Given the description of an element on the screen output the (x, y) to click on. 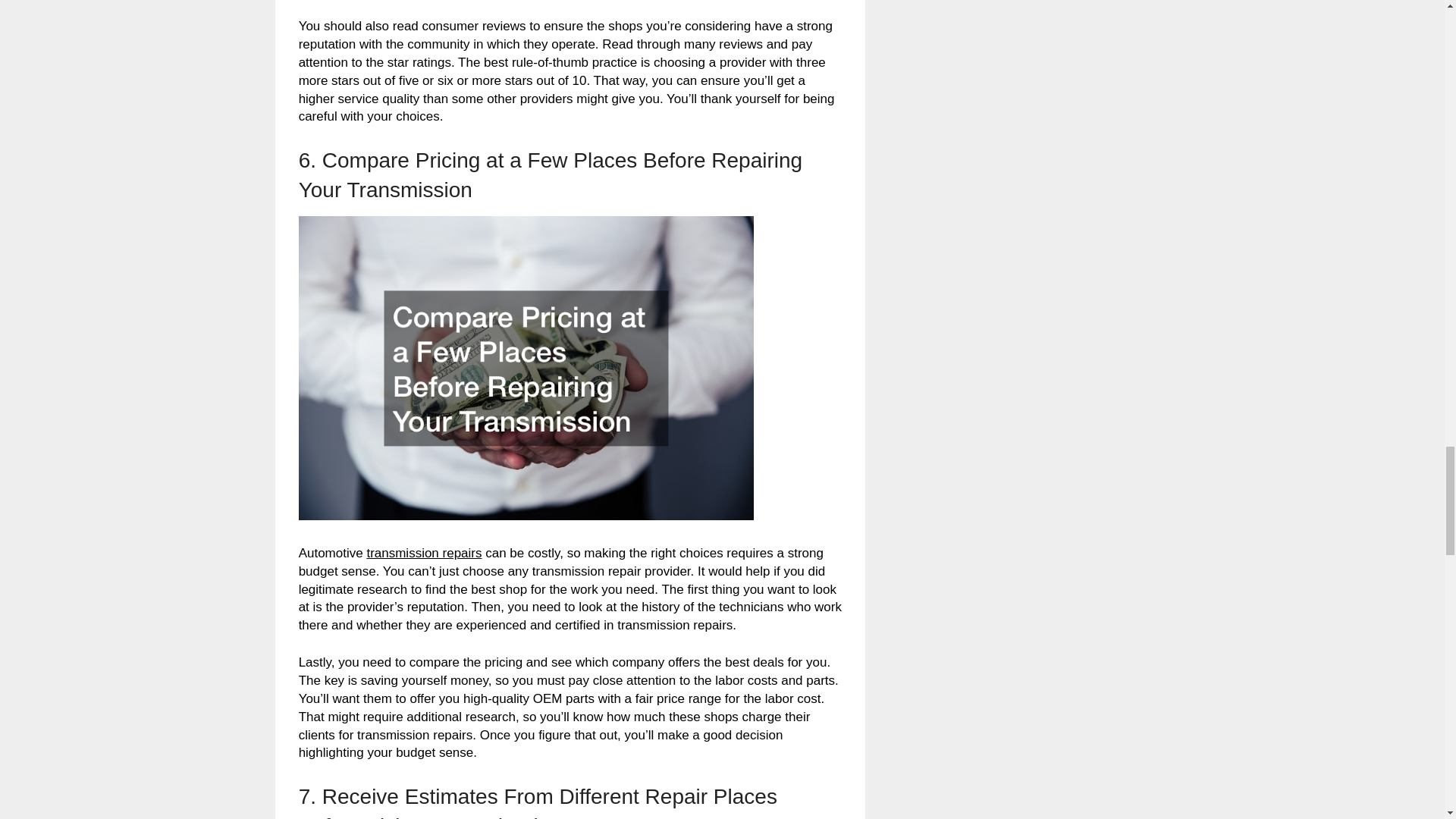
transmission repairs (423, 553)
